Given the description of an element on the screen output the (x, y) to click on. 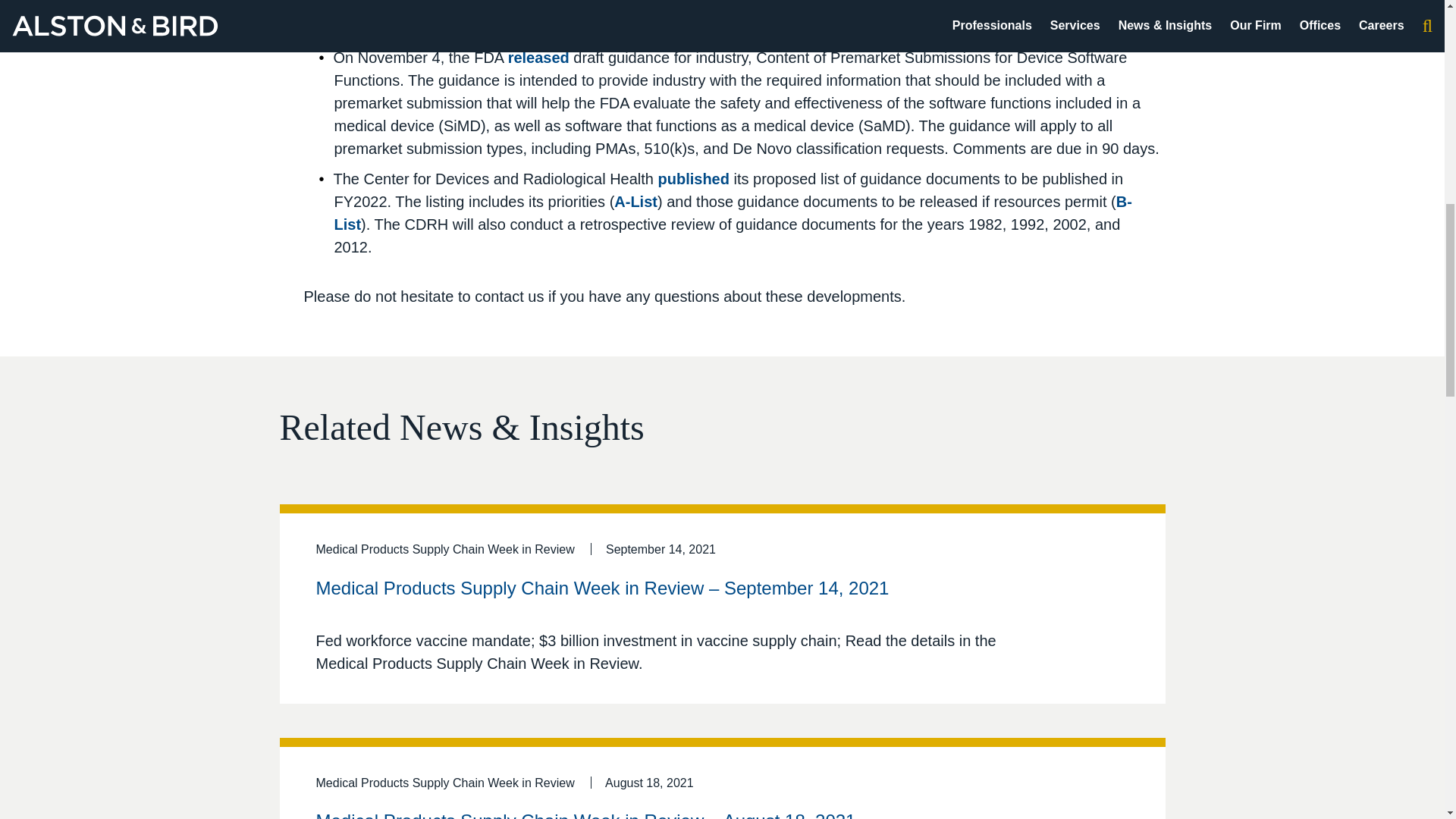
released (538, 57)
B-List (732, 212)
published (693, 178)
A-List (636, 201)
